Given the description of an element on the screen output the (x, y) to click on. 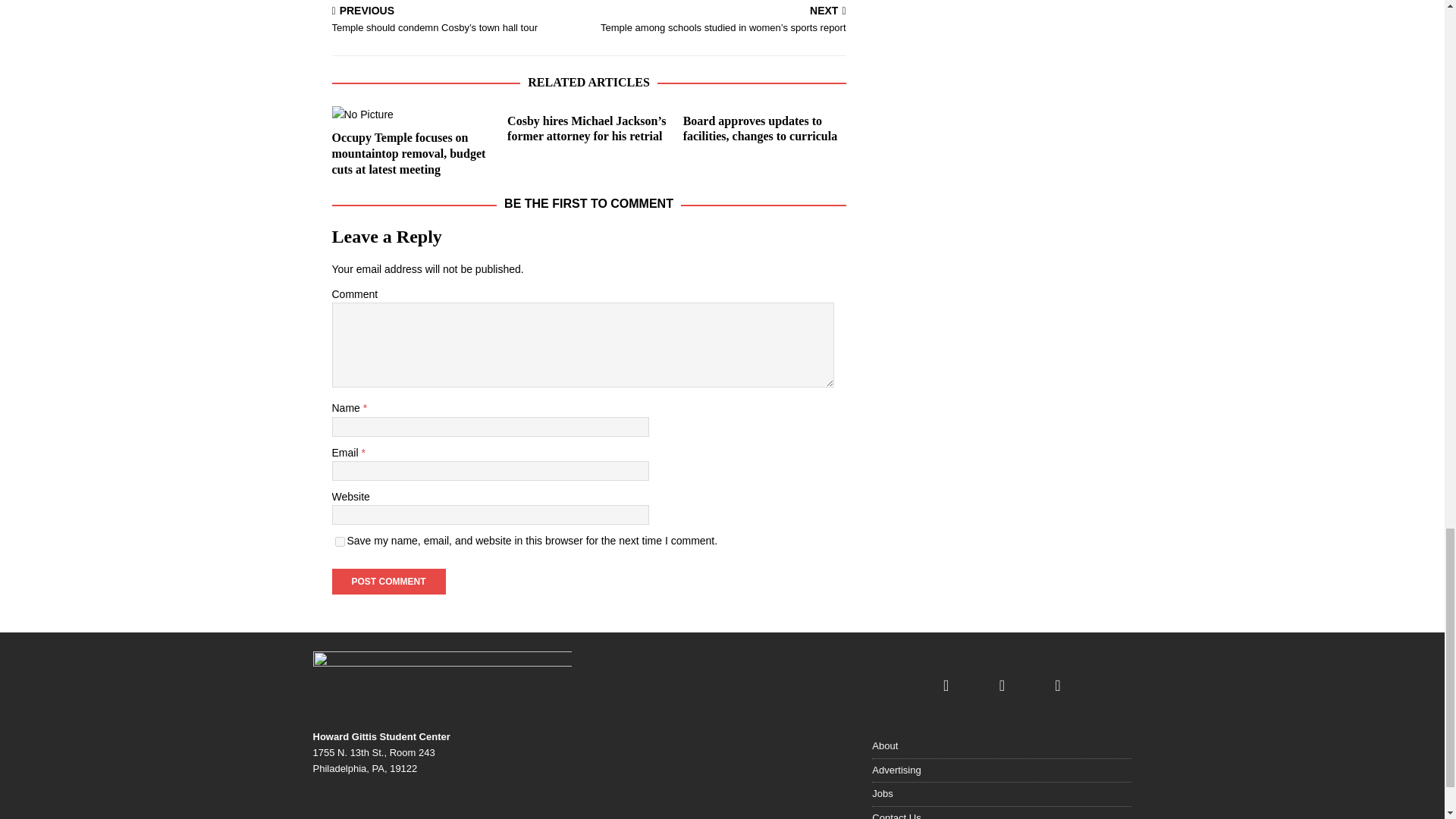
Post Comment (388, 581)
yes (339, 542)
